Given the description of an element on the screen output the (x, y) to click on. 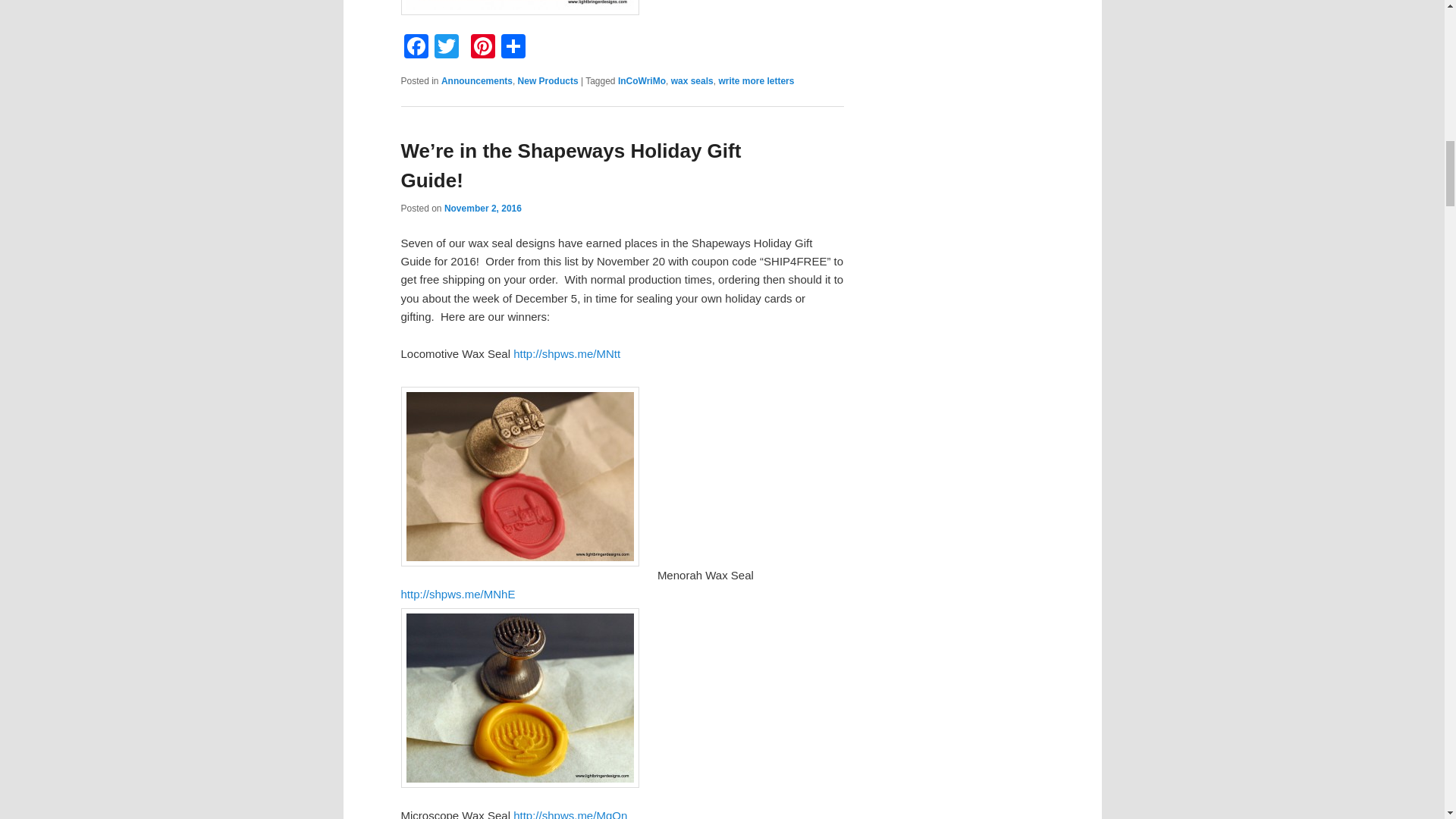
Twitter (445, 48)
7:32 am (482, 208)
Twitter (445, 48)
Facebook (415, 48)
Pinterest (482, 48)
Facebook (415, 48)
